Given the description of an element on the screen output the (x, y) to click on. 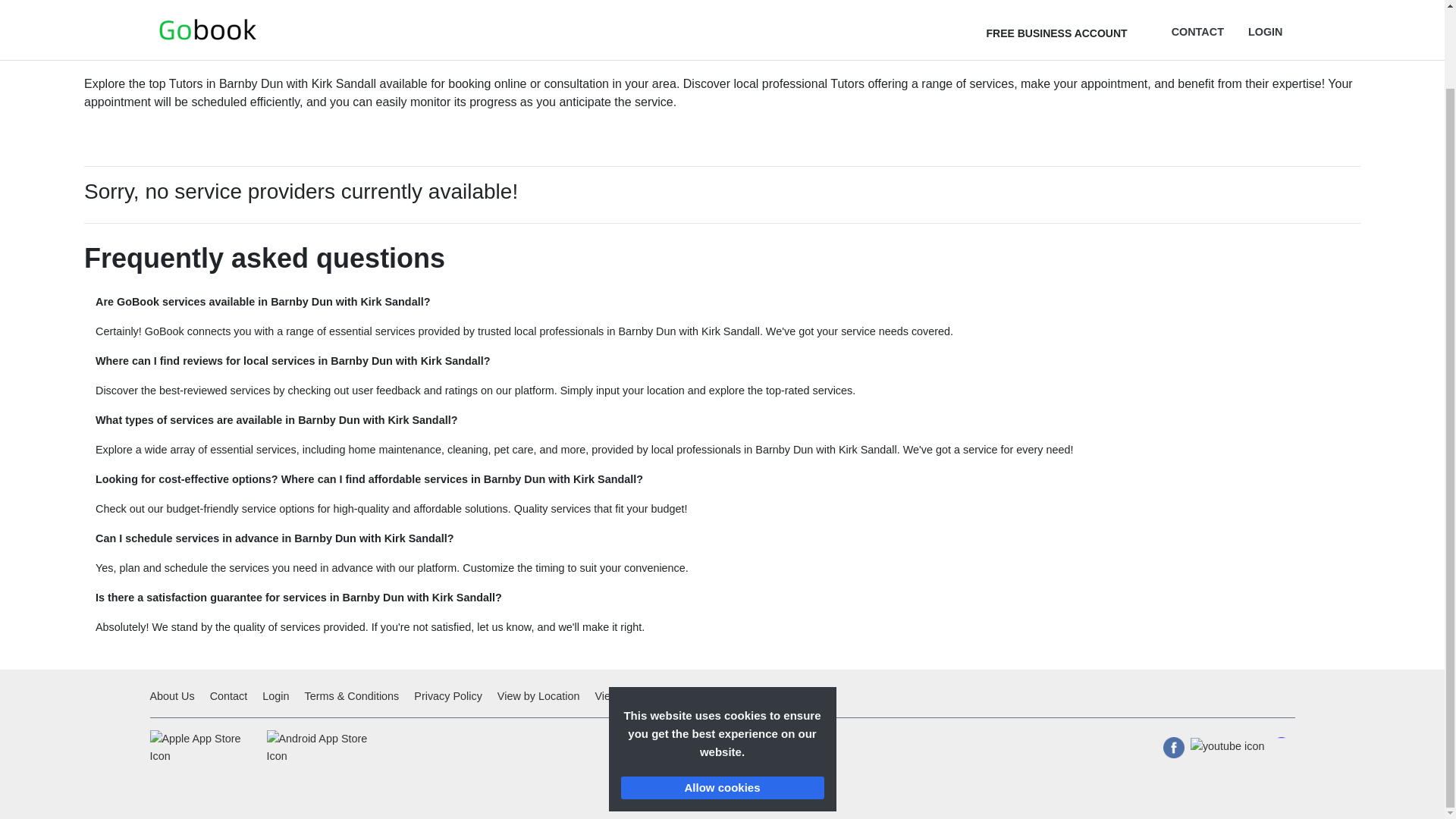
Home (99, 2)
Contact (228, 695)
England (151, 2)
View by Location (539, 695)
View by Services (635, 695)
Privacy Policy (447, 695)
Login (275, 695)
About Us (174, 695)
